Given the description of an element on the screen output the (x, y) to click on. 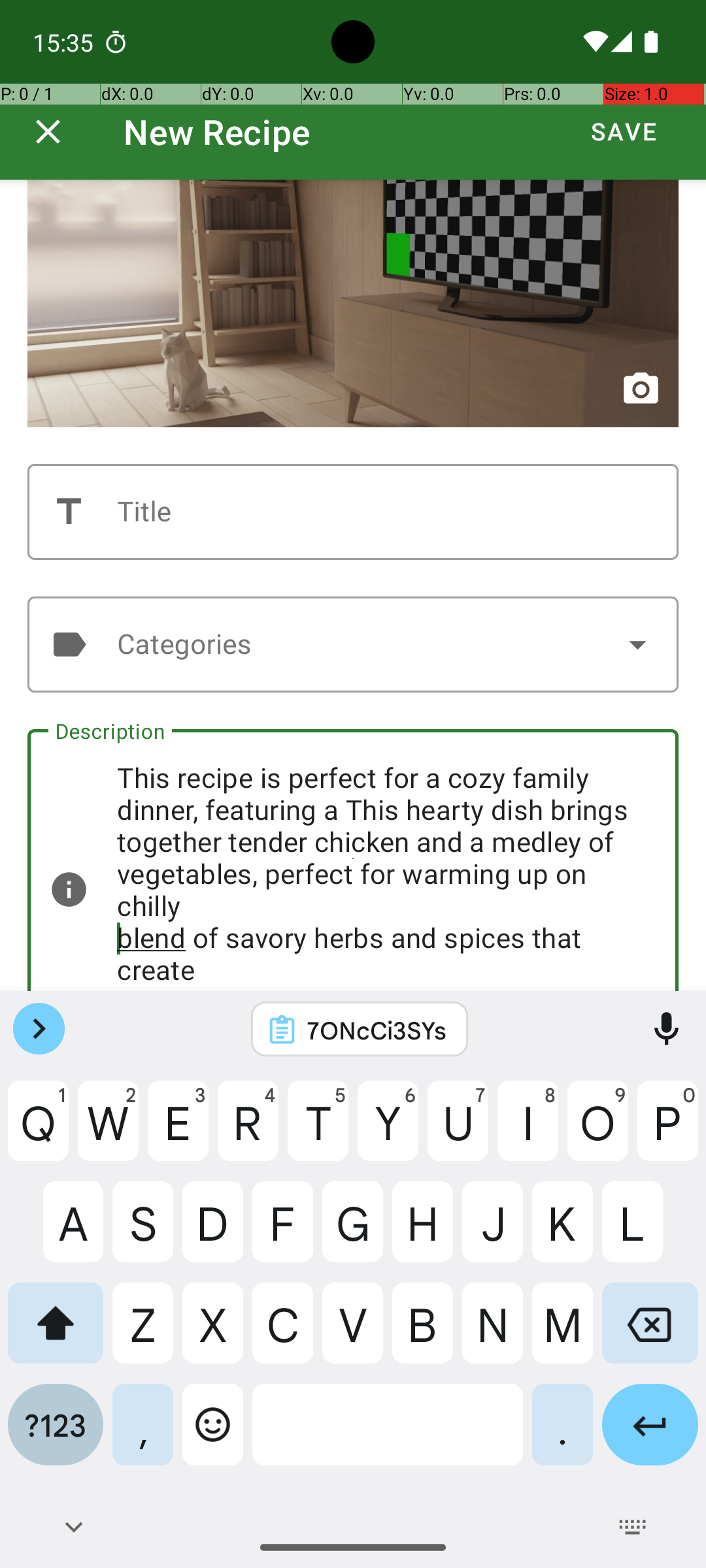
This recipe is perfect for a cozy family dinner, featuring a This hearty dish brings together tender chicken and a medley of vegetables, perfect for warming up on chilly
blend of savory herbs and spices that create
 Element type: android.widget.EditText (352, 860)
7ONcCi3SYs Element type: android.widget.TextView (376, 1029)
